Given the description of an element on the screen output the (x, y) to click on. 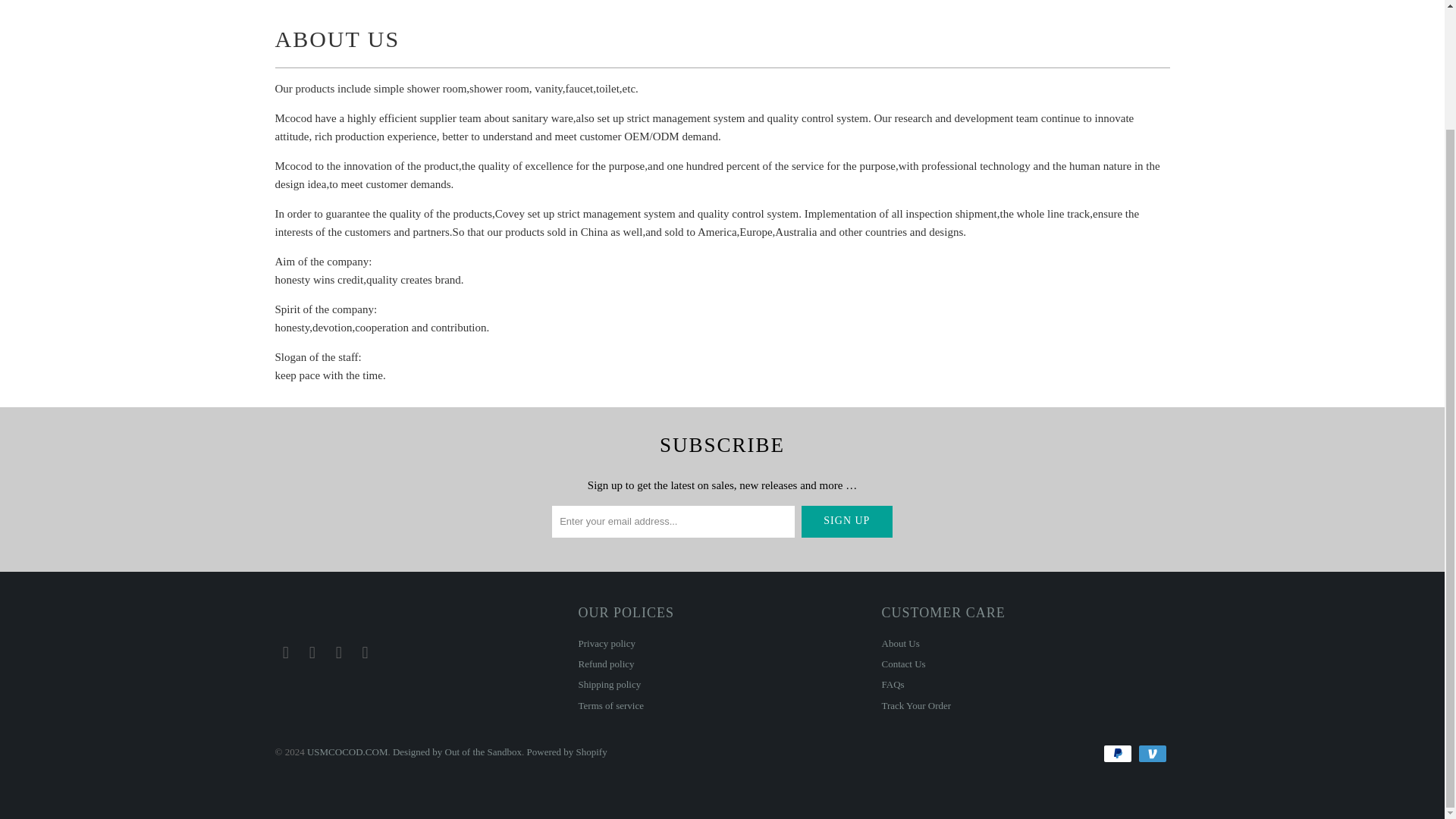
Track Your Order (915, 705)
USMCOCOD.COM on Pinterest (338, 652)
Sign Up (847, 521)
USMCOCOD.COM on Instagram (365, 652)
USMCOCOD.COM on Twitter (286, 652)
Turbo Shopify Theme by Out of the Sandbox (457, 751)
About Us (899, 643)
Sign Up (847, 521)
Contact Us (902, 663)
USMCOCOD.COM (347, 751)
